Given the description of an element on the screen output the (x, y) to click on. 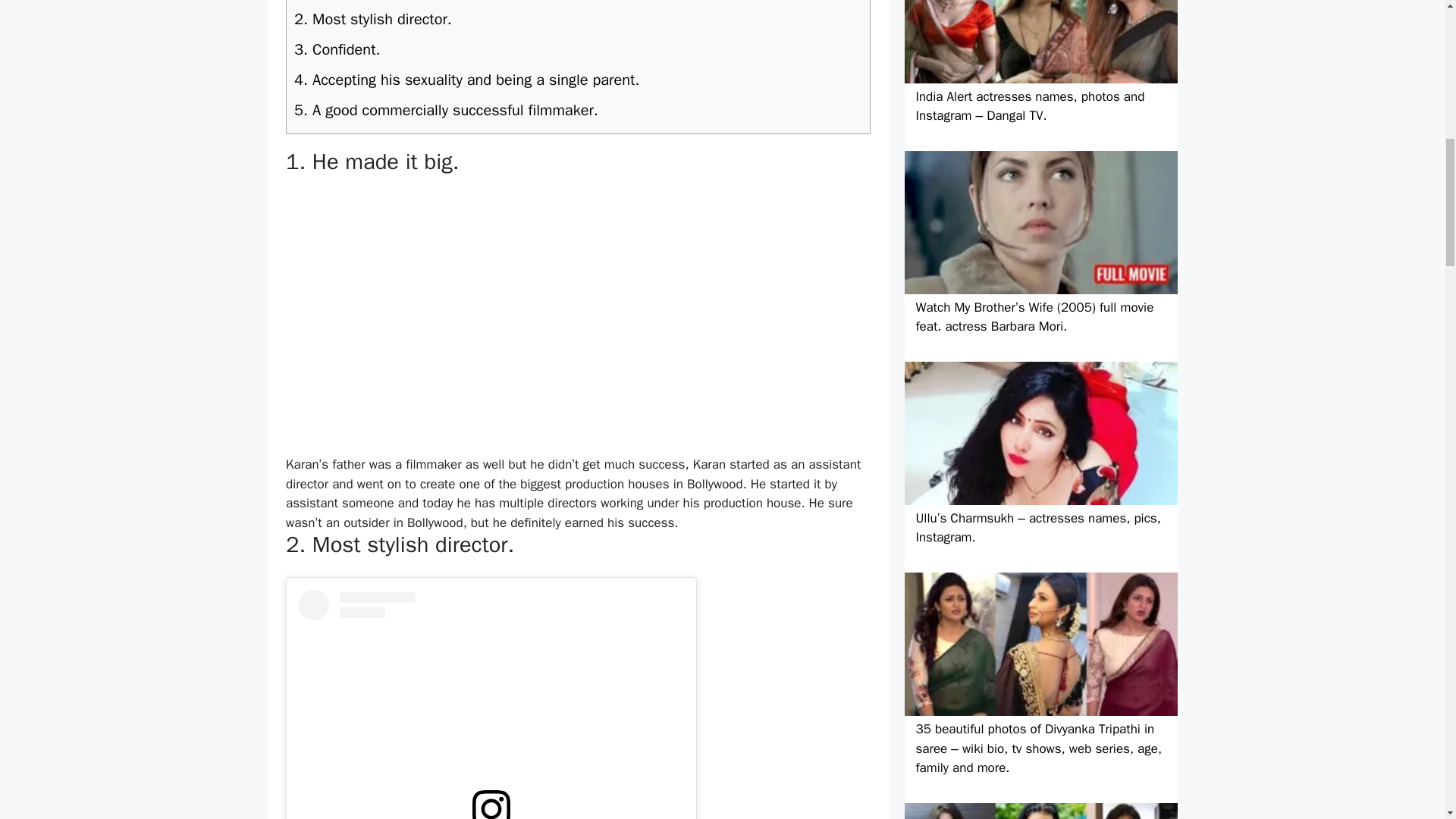
4. Accepting his sexuality and being a single parent. (577, 80)
5. A good commercially successful filmmaker. (577, 110)
2. Most stylish director. (577, 19)
3. Confident. (577, 50)
